Given the description of an element on the screen output the (x, y) to click on. 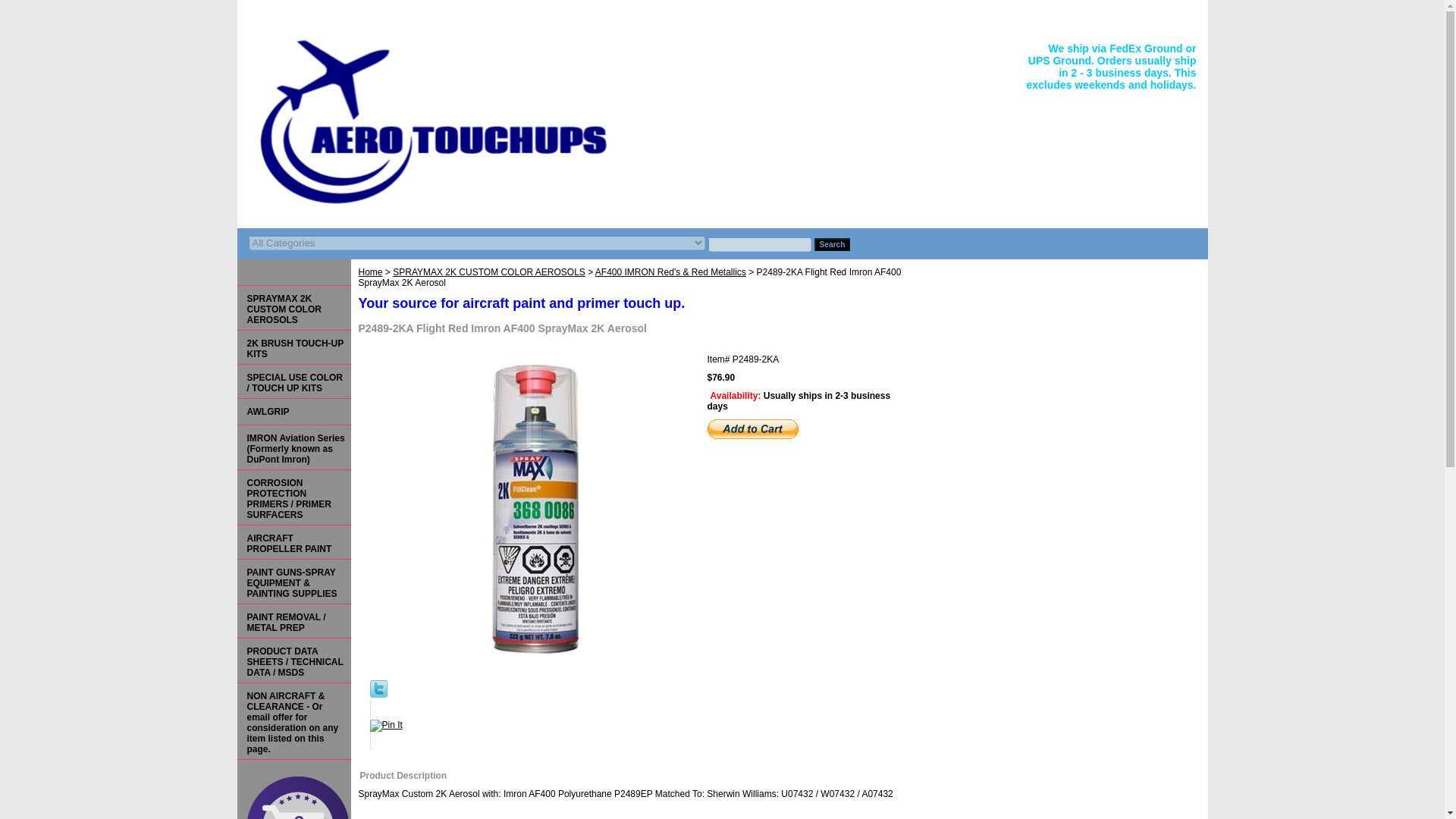
AWLGRIP  (292, 411)
Add to cart (751, 428)
Search (831, 244)
AIRCRAFT PROPELLER PAINT (292, 542)
2K  BRUSH TOUCH-UP KITS  (292, 347)
Tweet (378, 694)
Search (831, 244)
SPRAYMAX 2K CUSTOM COLOR AEROSOLS (292, 307)
Pin It (386, 725)
AIRCRAFT PROPELLER PAINT (292, 542)
aerotouchups.com (425, 119)
SPRAYMAX 2K CUSTOM COLOR AEROSOLS (292, 307)
2K BRUSH TOUCH-UP KITS (292, 347)
SPRAYMAX 2K CUSTOM COLOR AEROSOLS (489, 271)
P2489-2KA   Flight Red Imron AF400 SprayMax 2K Aerosol (532, 509)
